Given the description of an element on the screen output the (x, y) to click on. 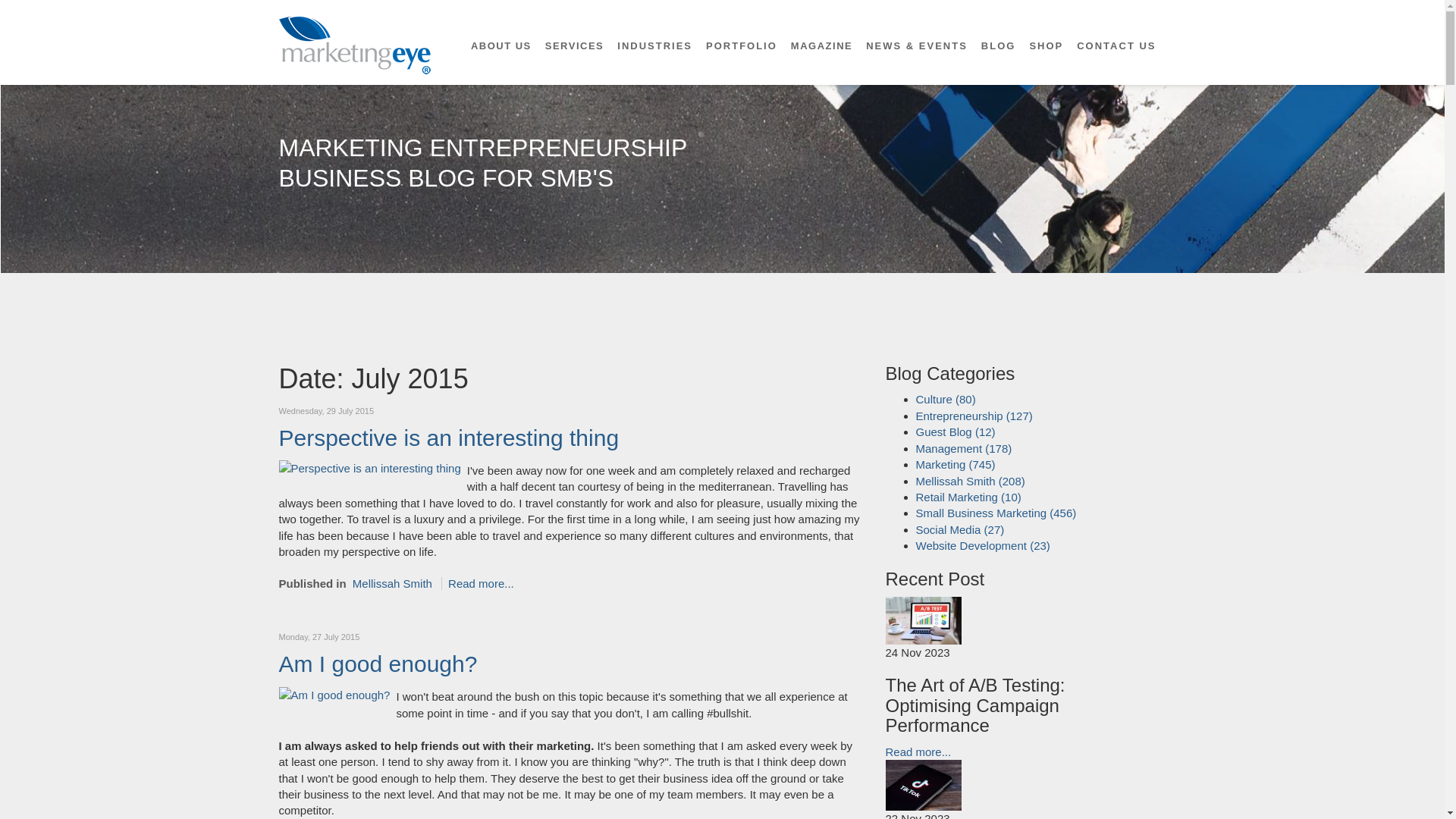
Guest Blog (12) Element type: text (955, 431)
NEWS & EVENTS Element type: text (916, 45)
Perspective is an interesting thing Element type: hover (370, 467)
SHOP Element type: text (1046, 45)
Mellissah Smith Element type: text (392, 583)
Read more... Element type: text (918, 751)
Marketing (745) Element type: text (955, 464)
CONTACT US Element type: text (1115, 45)
Mellissah Smith (208) Element type: text (970, 480)
Retail Marketing (10) Element type: text (968, 496)
Social Media (27) Element type: text (960, 529)
Perspective is an interesting thing Element type: text (449, 437)
BLOG Element type: text (998, 45)
INDUSTRIES Element type: text (654, 45)
Entrepreneurship (127) Element type: text (974, 415)
Management (178) Element type: text (964, 448)
Am I good enough? Element type: hover (334, 693)
PORTFOLIO Element type: text (741, 45)
Read more... Element type: text (481, 583)
Website Development (23) Element type: text (983, 545)
Culture (80) Element type: text (945, 398)
Am I good enough? Element type: text (378, 663)
Small Business Marketing (456) Element type: text (996, 512)
